Given the description of an element on the screen output the (x, y) to click on. 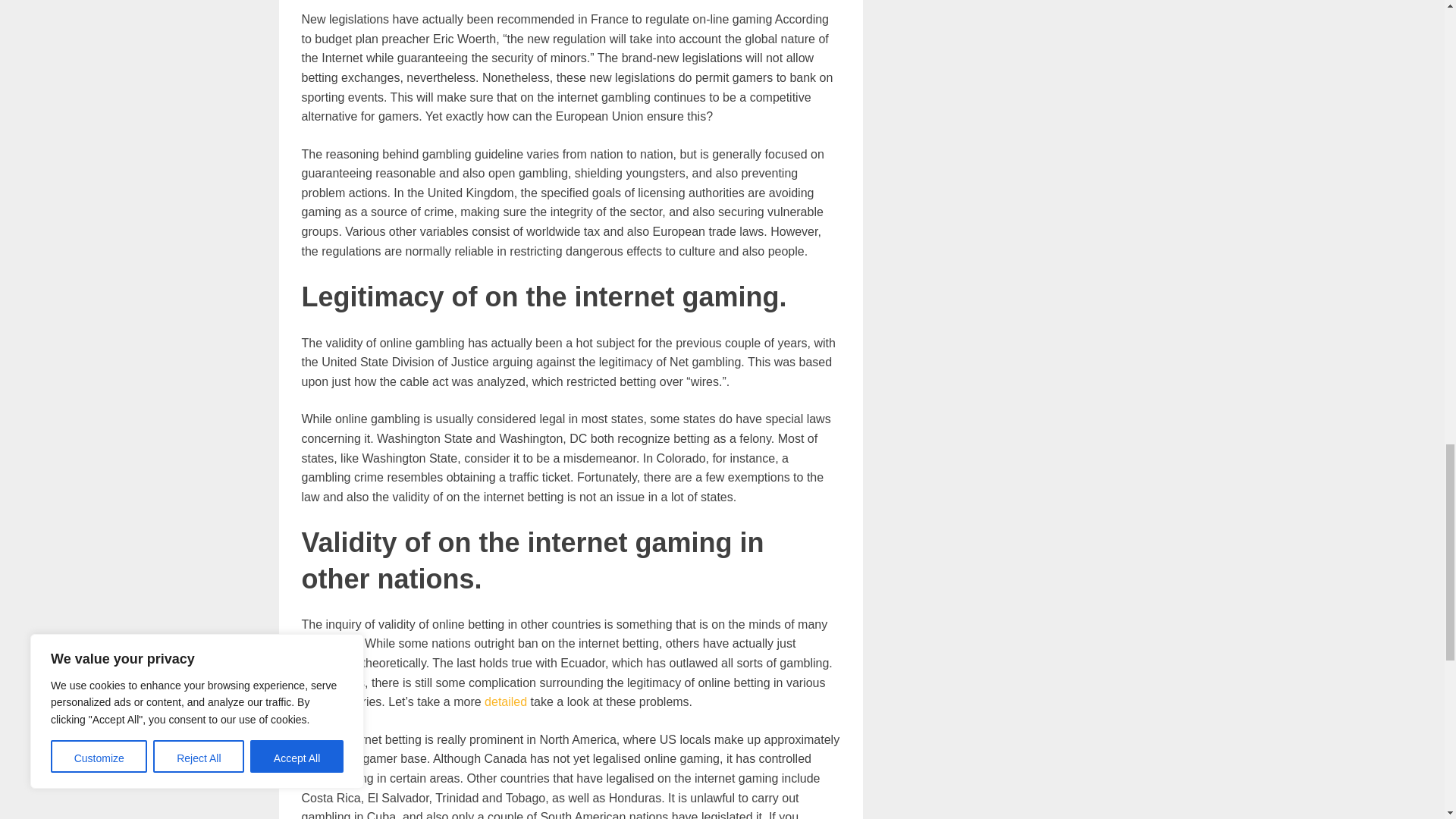
detailed (505, 701)
